Given the description of an element on the screen output the (x, y) to click on. 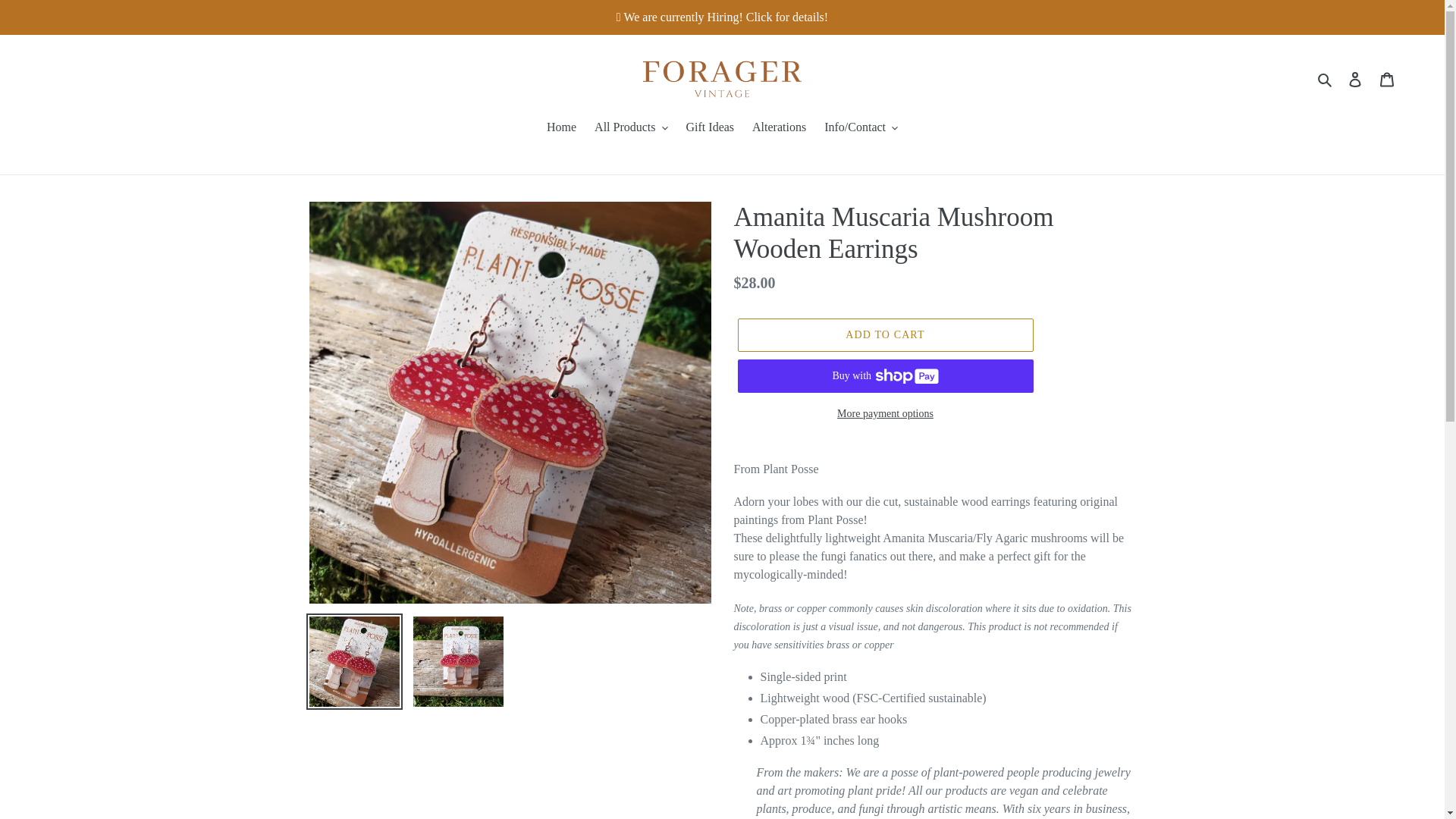
Log in (1355, 78)
Search (1326, 77)
Cart (1387, 78)
